Given the description of an element on the screen output the (x, y) to click on. 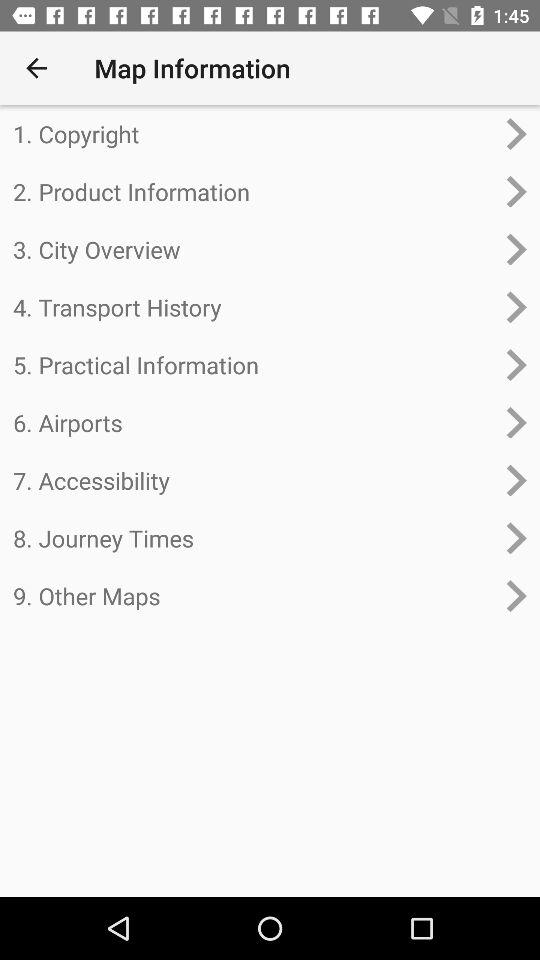
choose item below 3. city overview icon (253, 307)
